Given the description of an element on the screen output the (x, y) to click on. 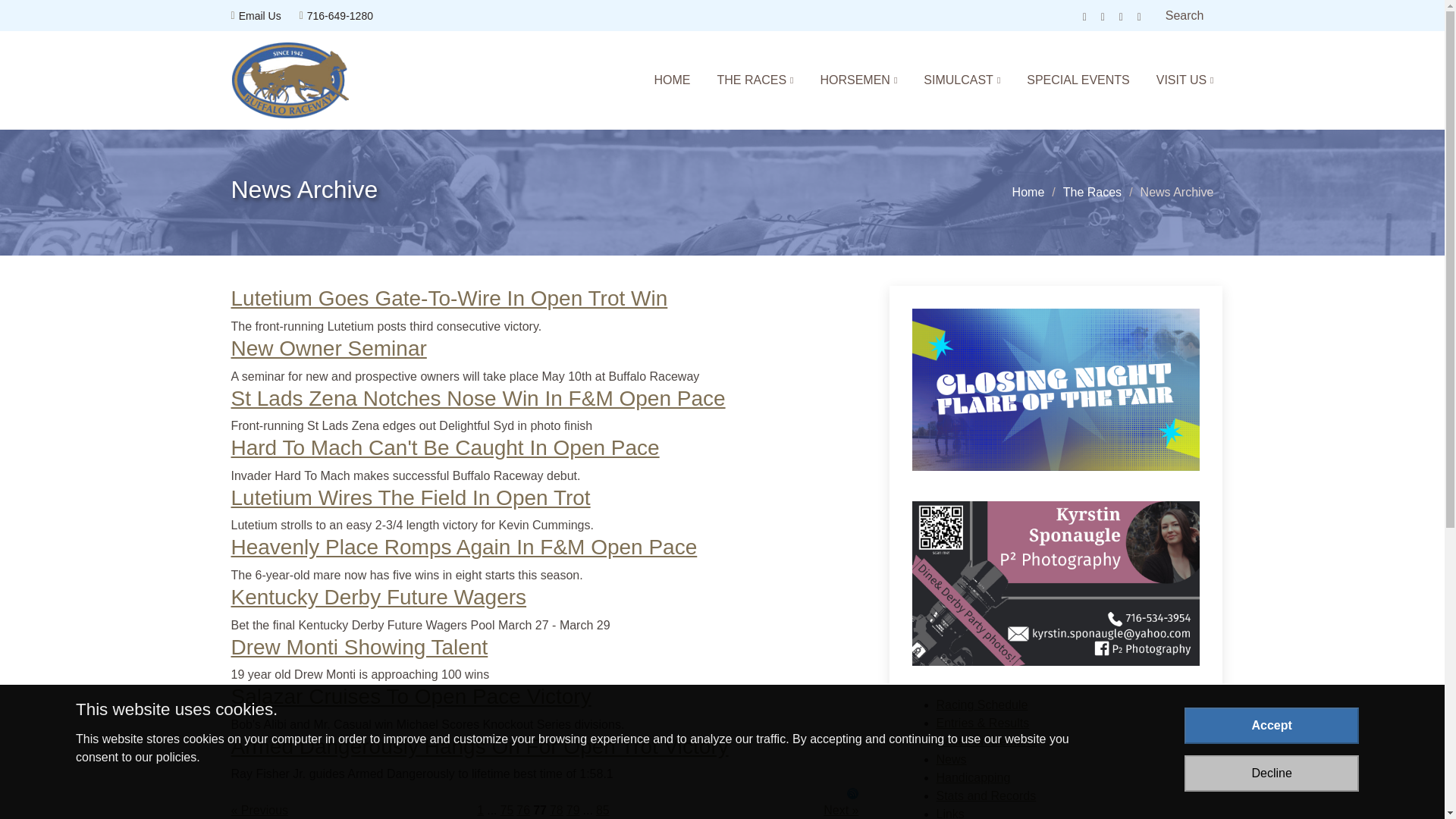
Lutetium Goes Gate-To-Wire In Open Trot Win (448, 298)
SIMULCAST (948, 80)
Home (1028, 192)
SPECIAL EVENTS (1064, 80)
VISIT US (1171, 80)
The Races (1091, 192)
HOME (658, 80)
Search (1185, 15)
THE RACES (741, 80)
HORSEMEN (844, 80)
